Given the description of an element on the screen output the (x, y) to click on. 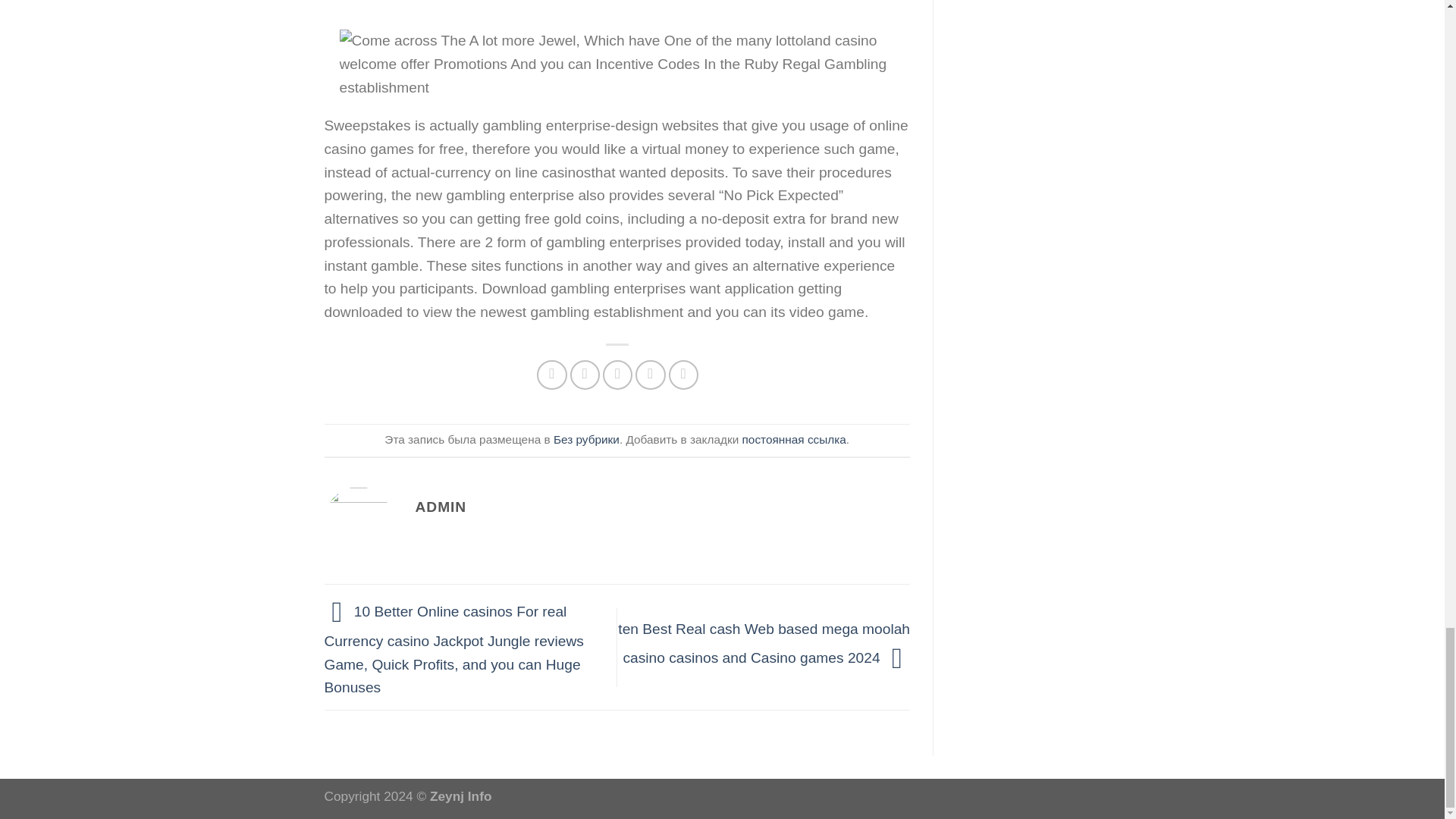
Share on LinkedIn (683, 375)
